Given the description of an element on the screen output the (x, y) to click on. 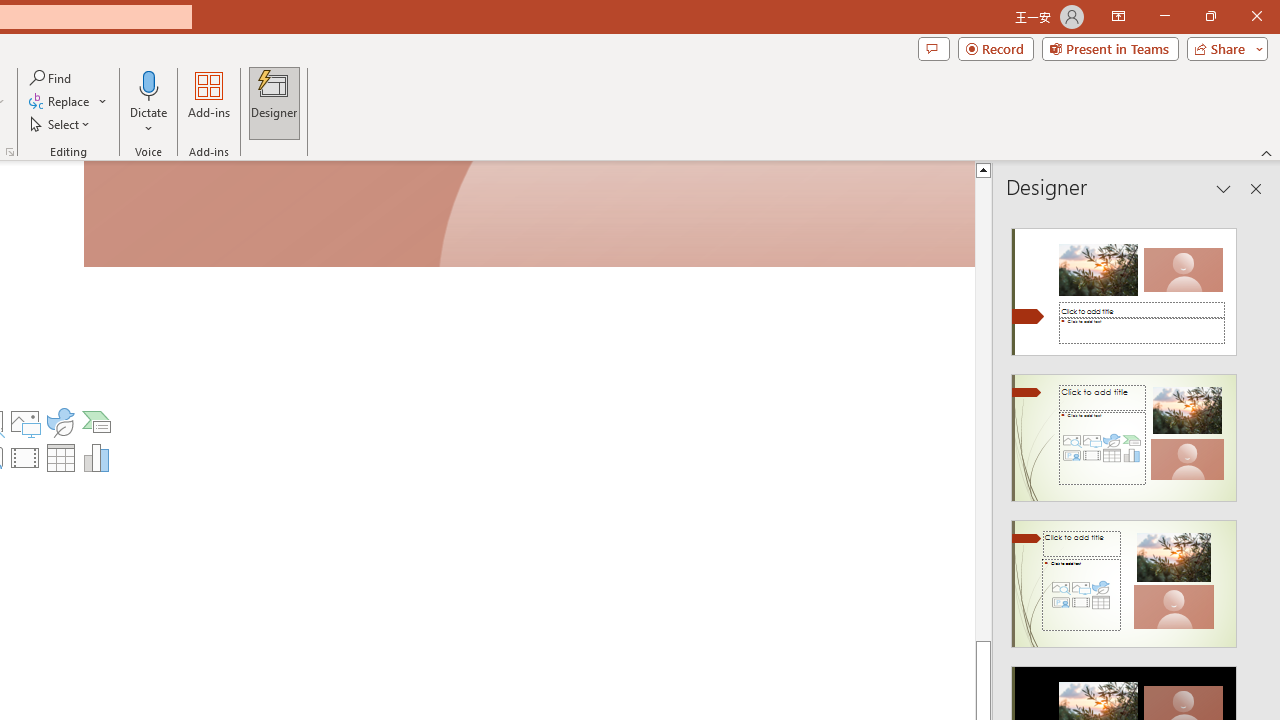
Camera 7, No camera detected. (529, 215)
